Given the description of an element on the screen output the (x, y) to click on. 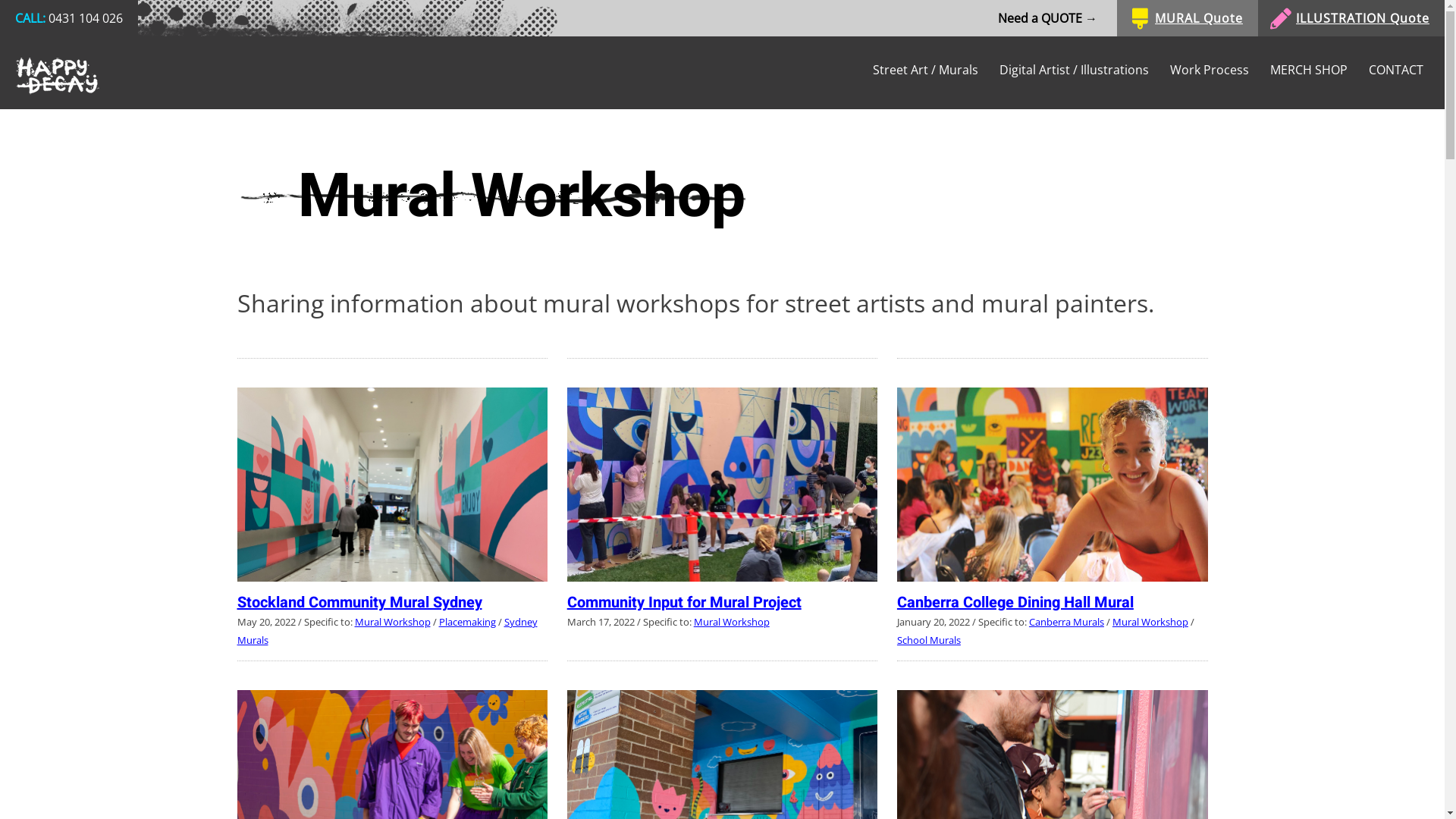
Digital Artist / Illustrations Element type: text (1084, 69)
Stockland Community Mural Sydney Element type: text (358, 602)
MURAL Quote Element type: text (1187, 18)
MERCH SHOP Element type: text (1319, 69)
School Murals Element type: text (928, 639)
Placemaking Element type: text (466, 621)
Community Input for Mural Project Element type: text (684, 602)
Street Art / Murals Element type: text (935, 69)
Canberra Murals Element type: text (1066, 621)
Sydney Murals Element type: text (386, 630)
ILLUSTRATION Quote Element type: text (1351, 18)
Work Process Element type: text (1220, 69)
0431 104 026 Element type: text (85, 17)
Mural Workshop Element type: text (392, 621)
Mural Workshop Element type: text (1150, 621)
CONTACT Element type: text (1406, 69)
Canberra College Dining Hall Mural Element type: text (1015, 602)
Mural Workshop Element type: text (731, 621)
